Given the description of an element on the screen output the (x, y) to click on. 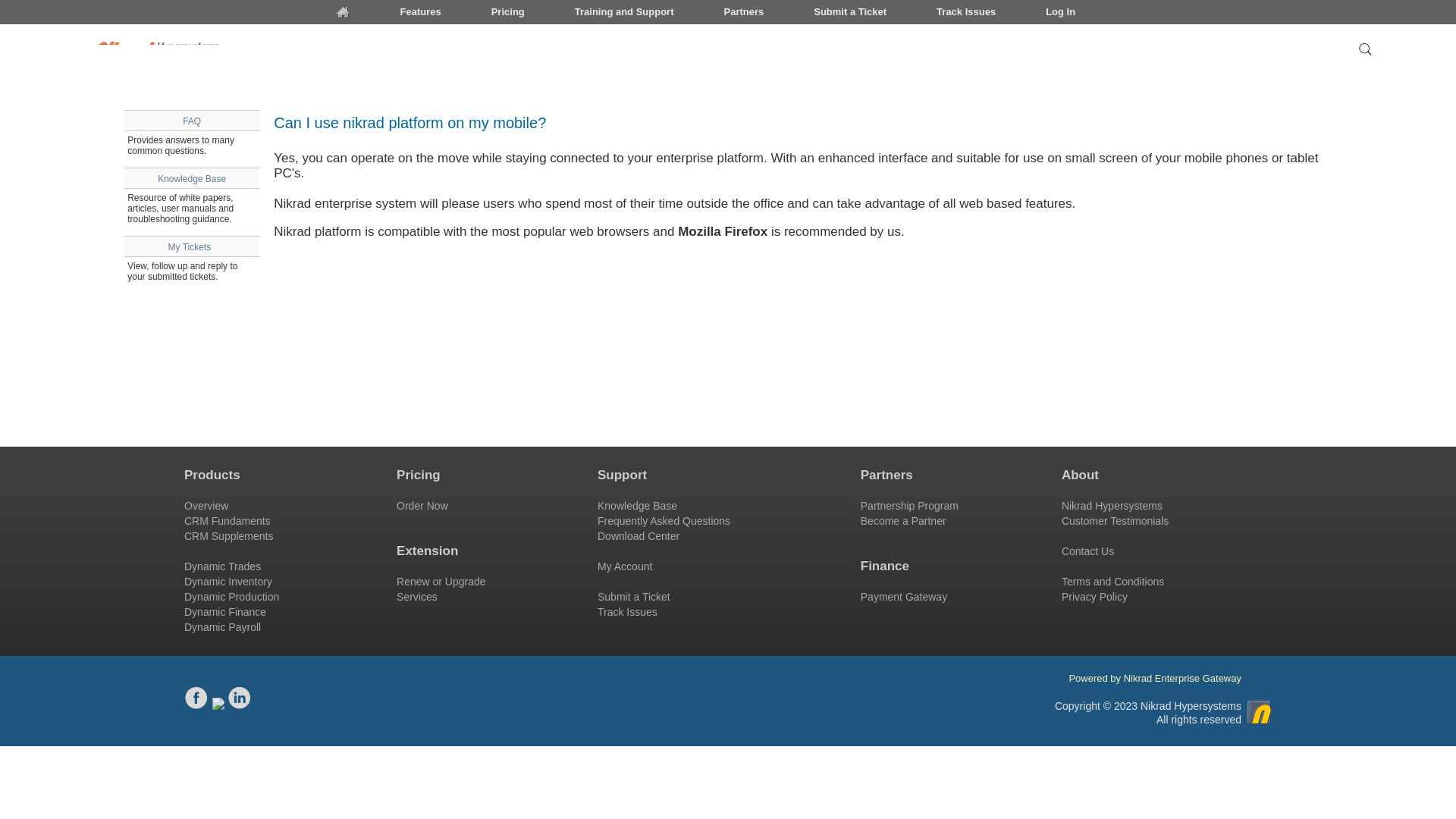
Ticket Management System (632, 596)
Business (222, 566)
My Account (624, 566)
Training and Support (624, 12)
Dynamic Trades (222, 566)
Find (446, 588)
Pricing (18, 13)
Order Now (507, 12)
ERP and CRM Features (422, 505)
